Given the description of an element on the screen output the (x, y) to click on. 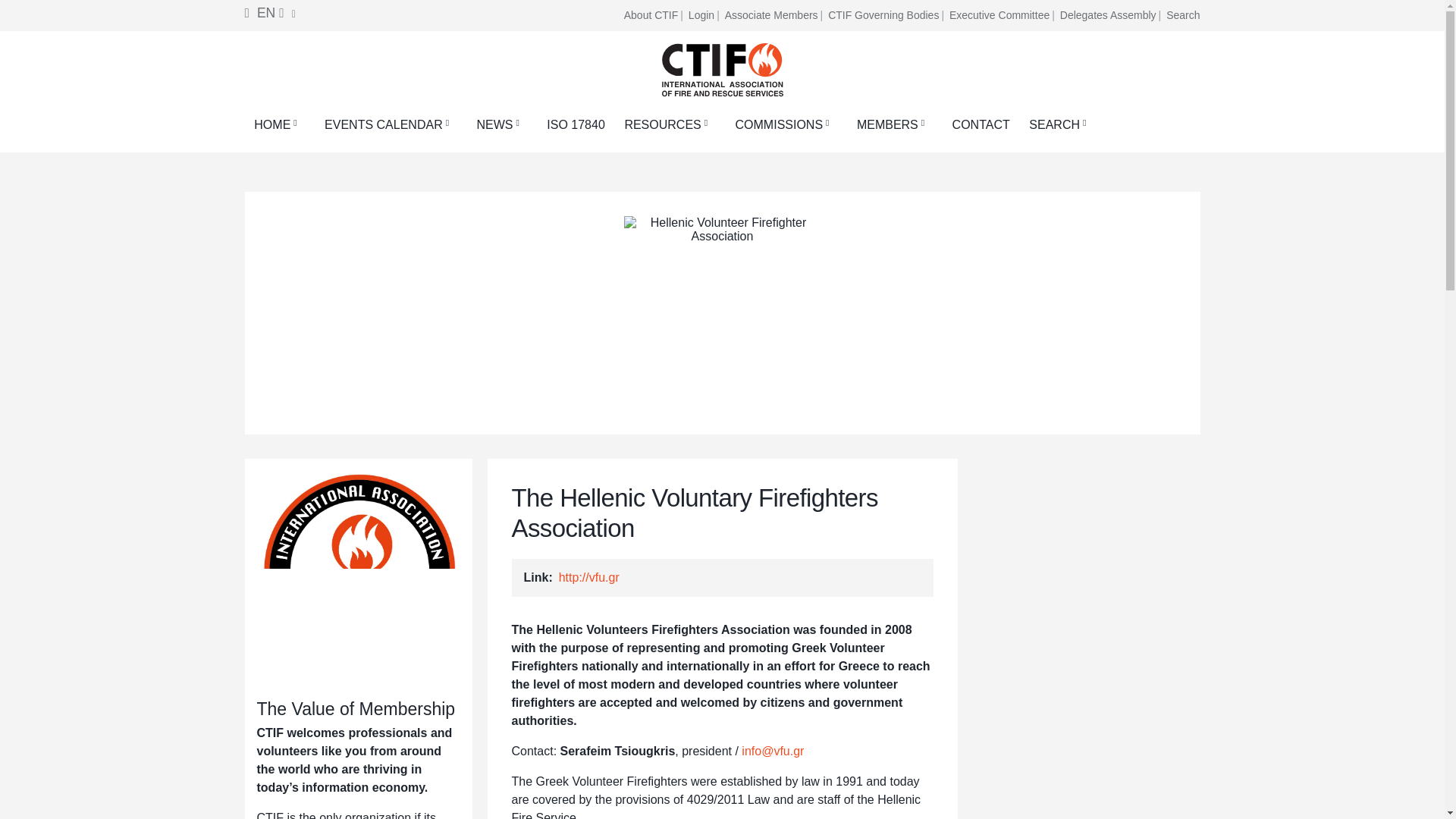
Search (1182, 15)
Delegates Assembly (1111, 15)
Executive Committee (1003, 15)
CTIF Governing Bodies (887, 15)
About CTIF (654, 15)
ISO 17840 (575, 124)
Login (705, 15)
Associate Members (775, 15)
